Given the description of an element on the screen output the (x, y) to click on. 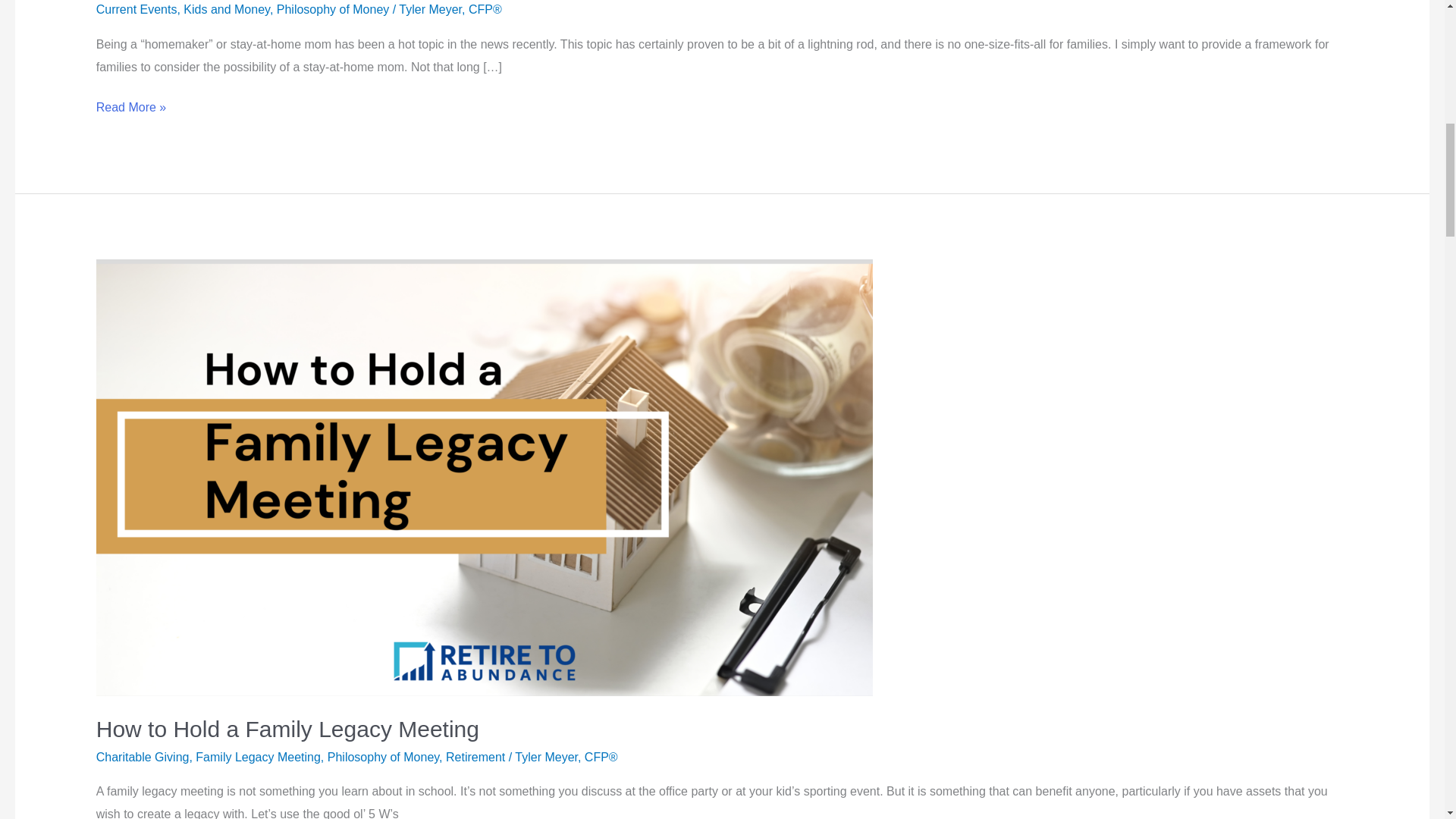
How to Hold a Family Legacy Meeting (287, 729)
Charitable Giving (142, 757)
Philosophy of Money (333, 9)
Retirement (475, 757)
Philosophy of Money (383, 757)
Current Events (136, 9)
Family Legacy Meeting (257, 757)
Kids and Money (226, 9)
